Given the description of an element on the screen output the (x, y) to click on. 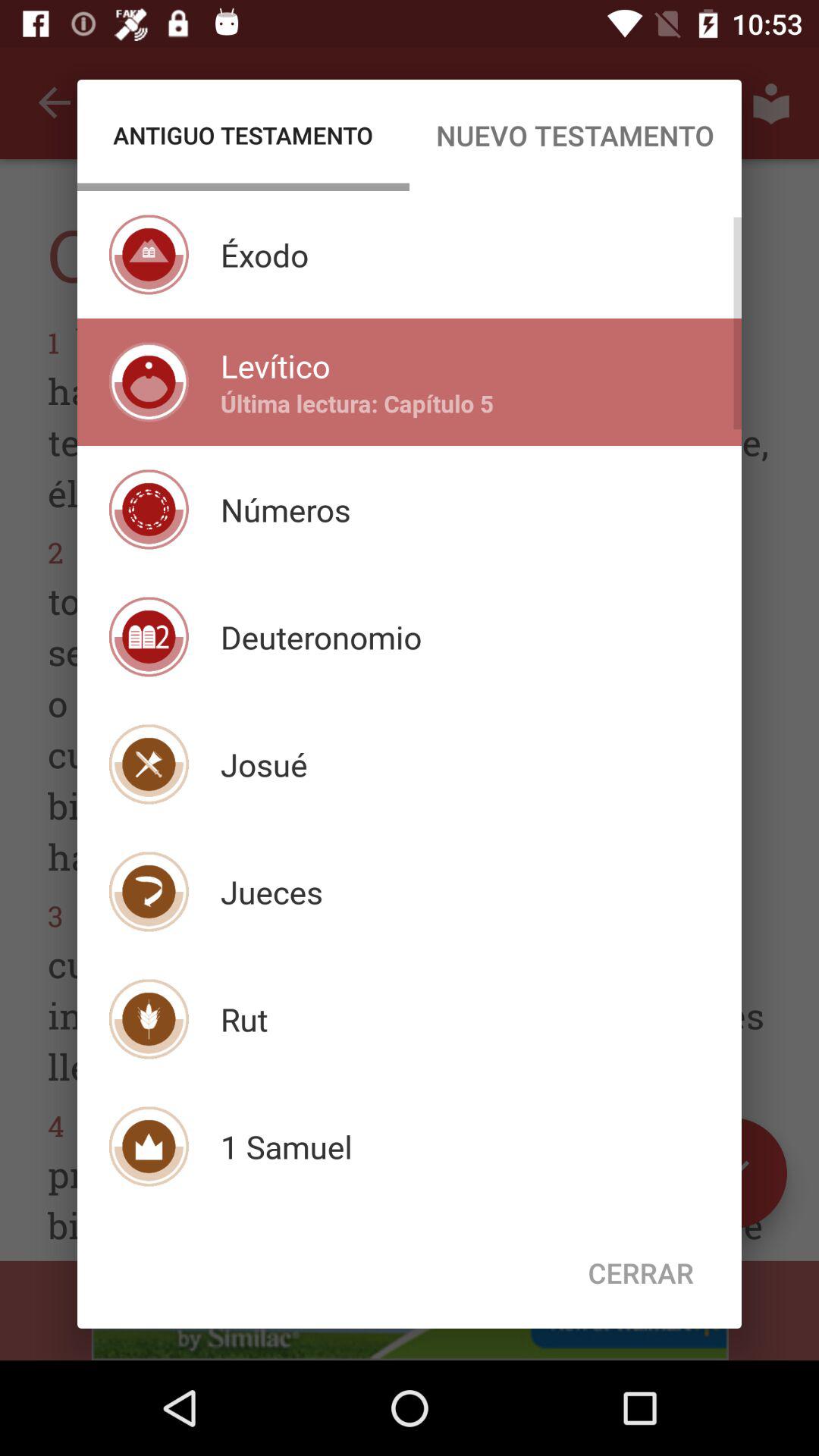
click item above the rut (271, 891)
